Given the description of an element on the screen output the (x, y) to click on. 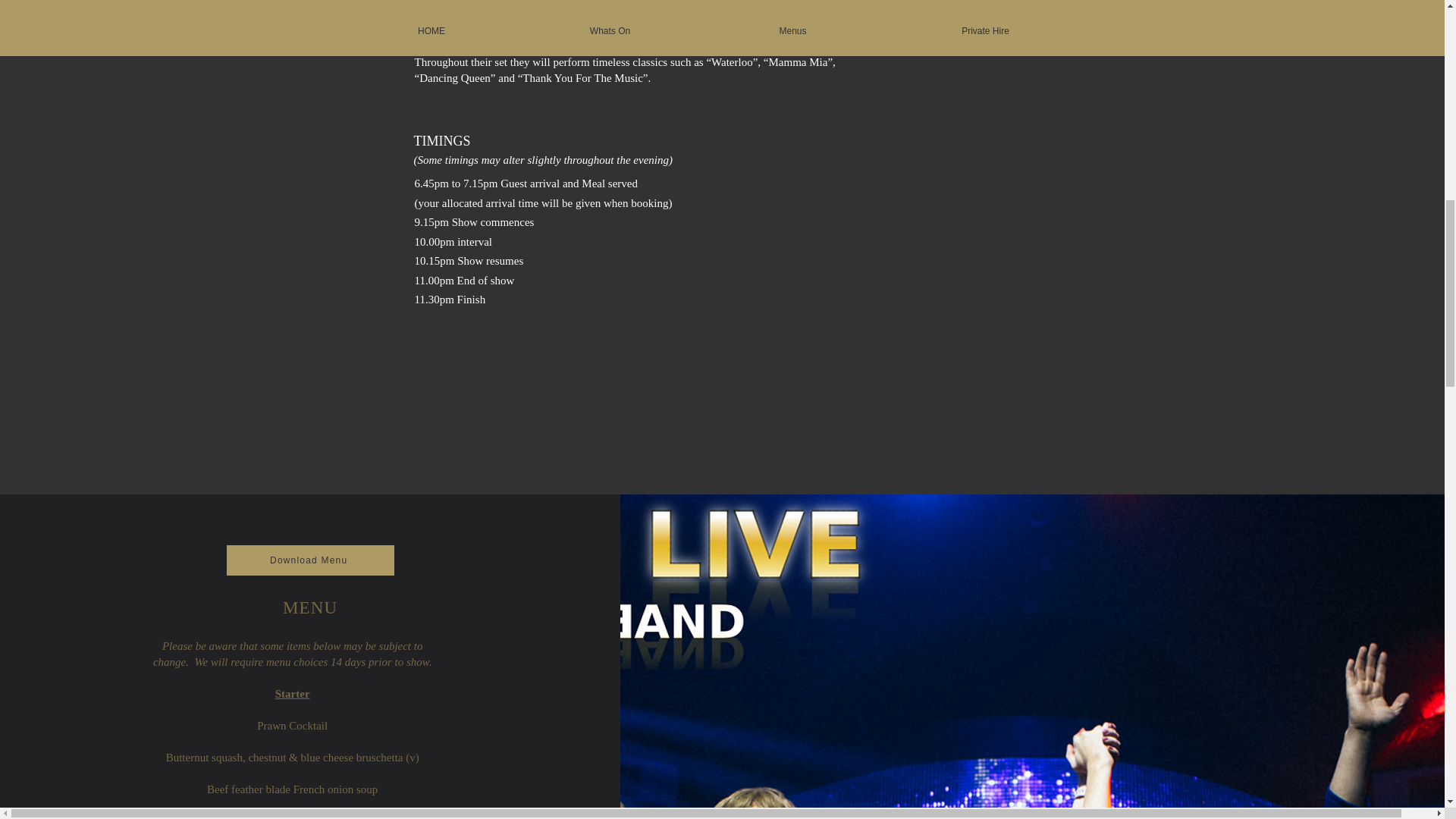
Download Menu (310, 560)
